Given the description of an element on the screen output the (x, y) to click on. 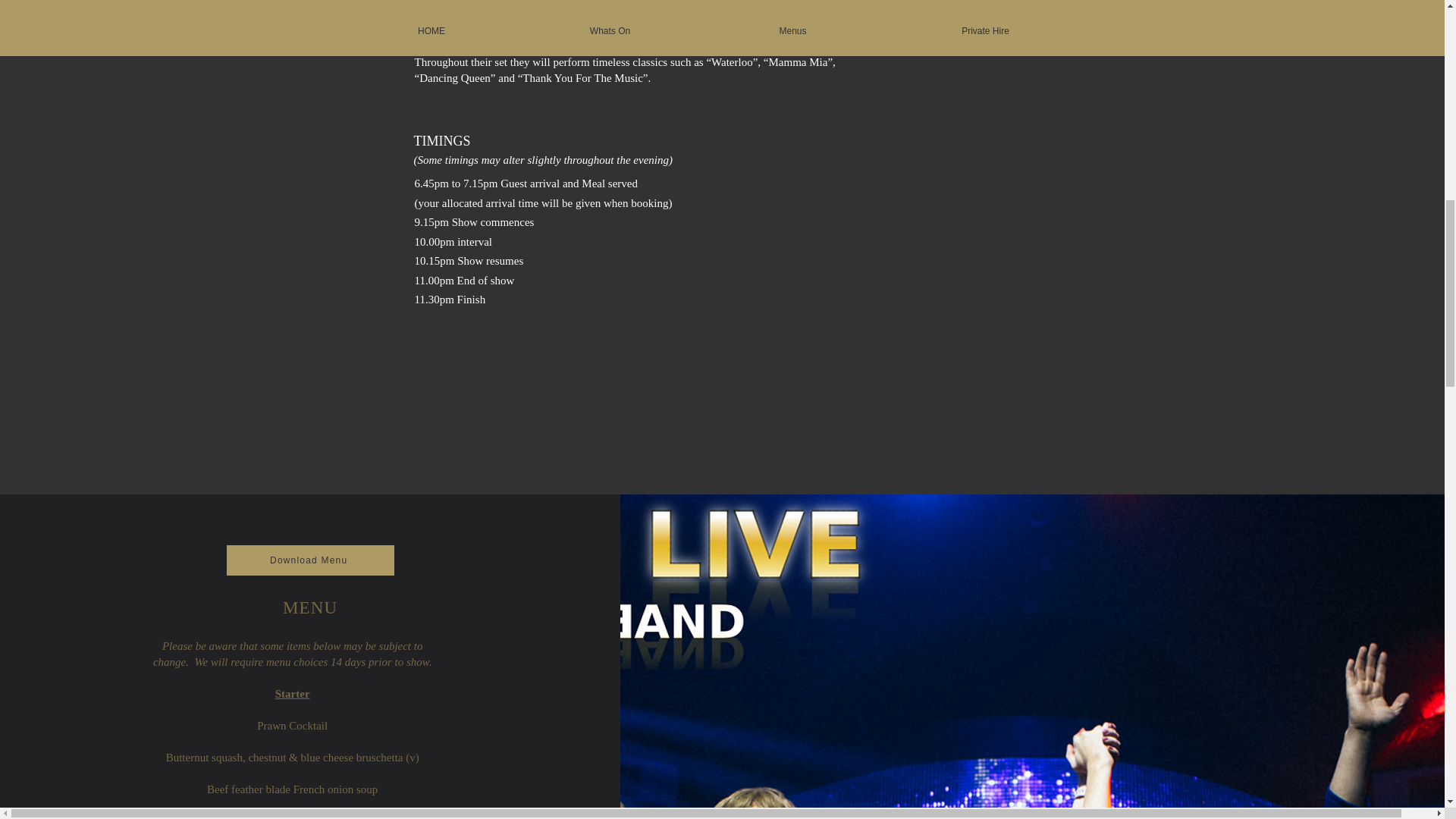
Download Menu (310, 560)
